Given the description of an element on the screen output the (x, y) to click on. 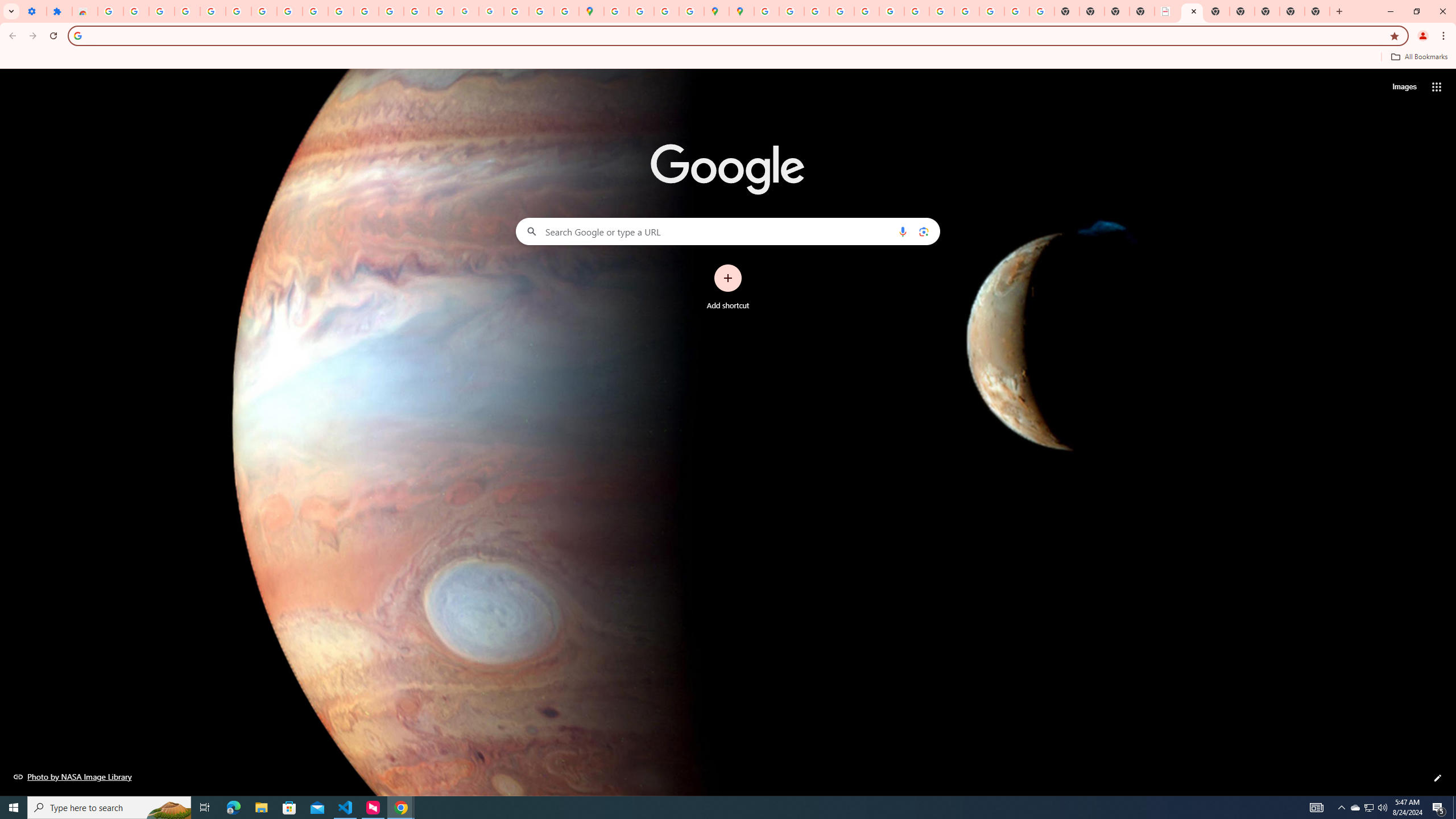
Bookmarks (728, 58)
Delete photos & videos - Computer - Google Photos Help (161, 11)
Customize this page (1437, 778)
Settings - On startup (34, 11)
https://scholar.google.com/ (365, 11)
Privacy Help Center - Policies Help (841, 11)
